Given the description of an element on the screen output the (x, y) to click on. 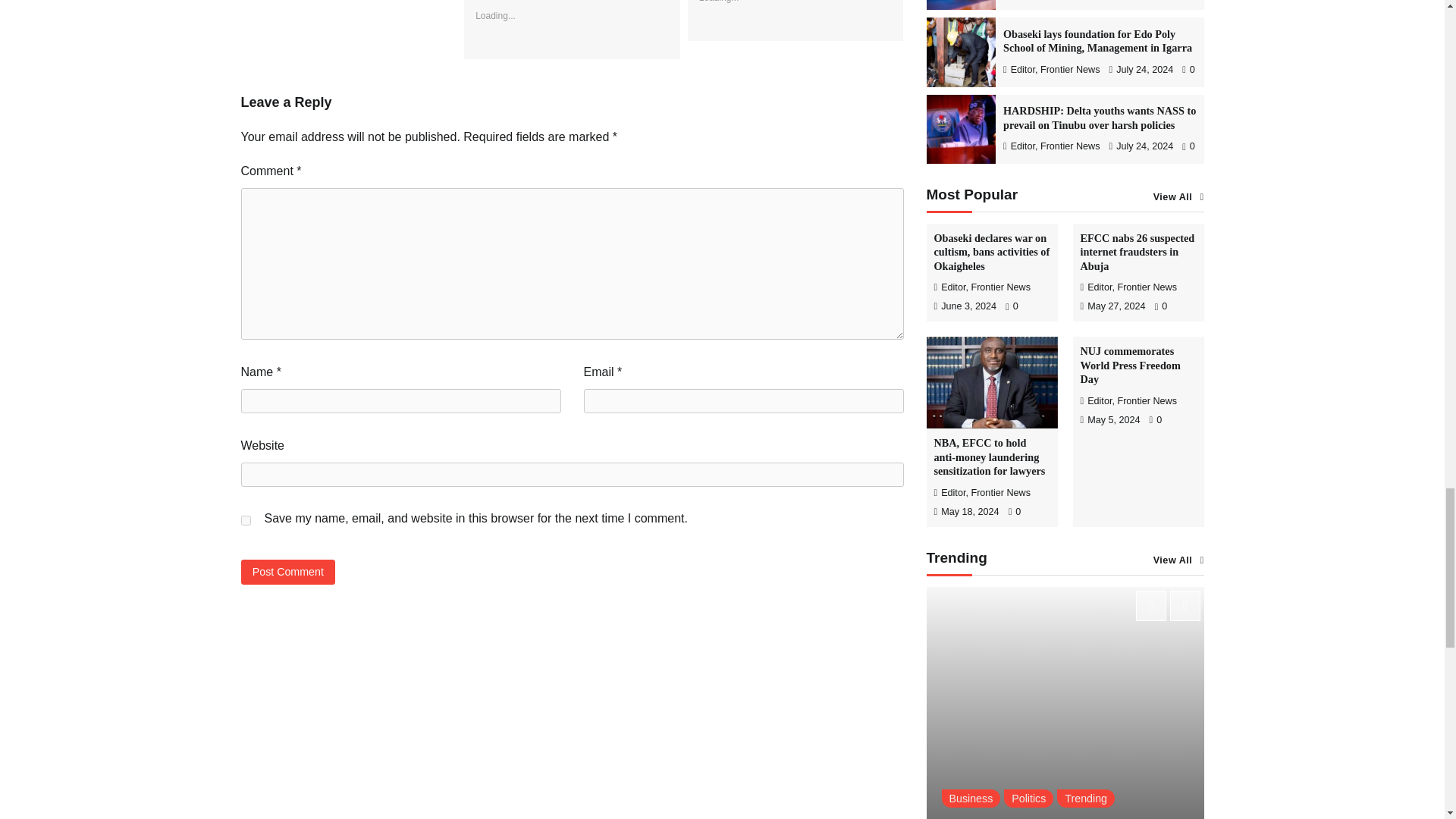
Post Comment (288, 571)
yes (245, 520)
